Given the description of an element on the screen output the (x, y) to click on. 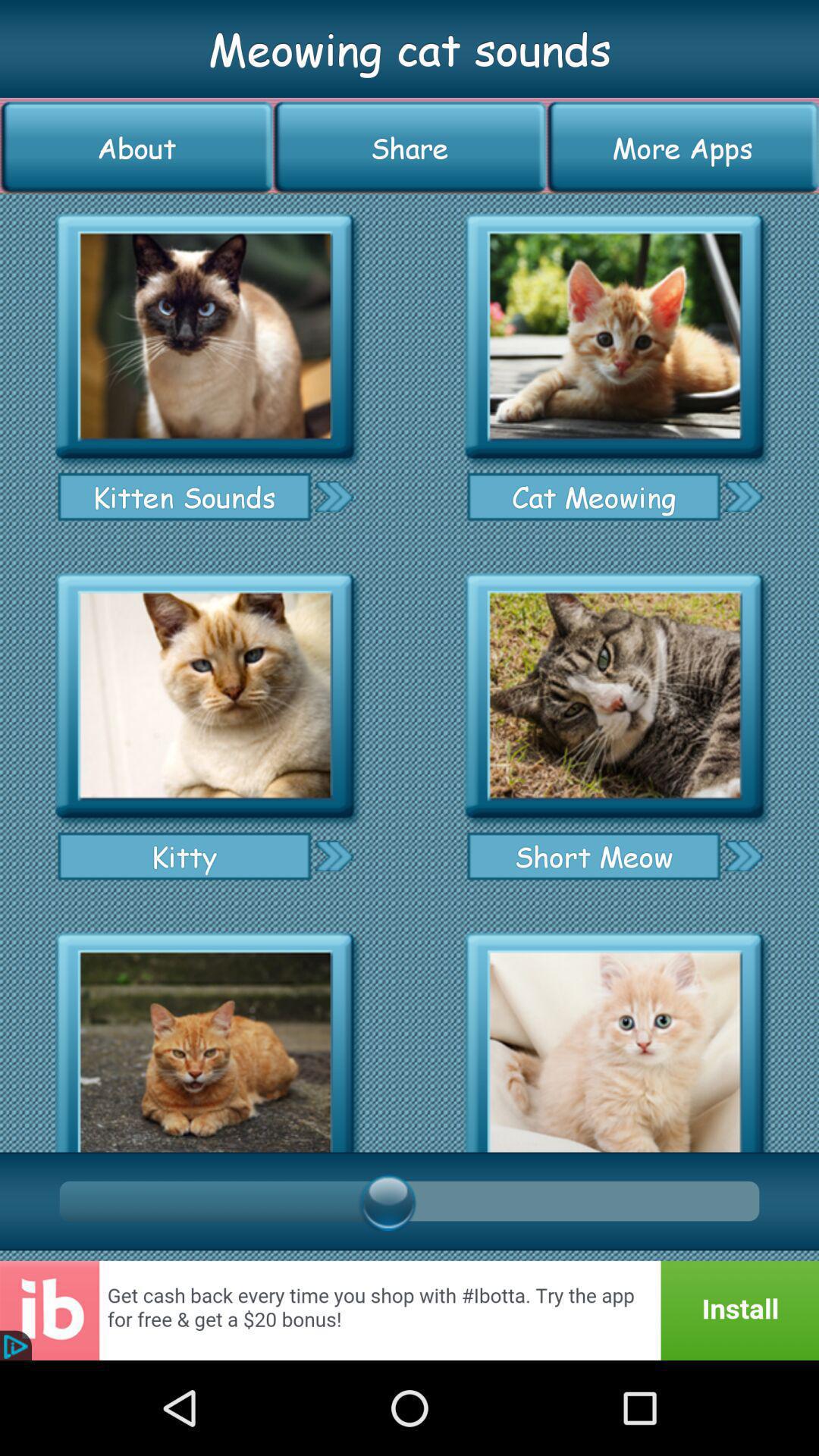
tap the icon next to the share button (682, 147)
